Given the description of an element on the screen output the (x, y) to click on. 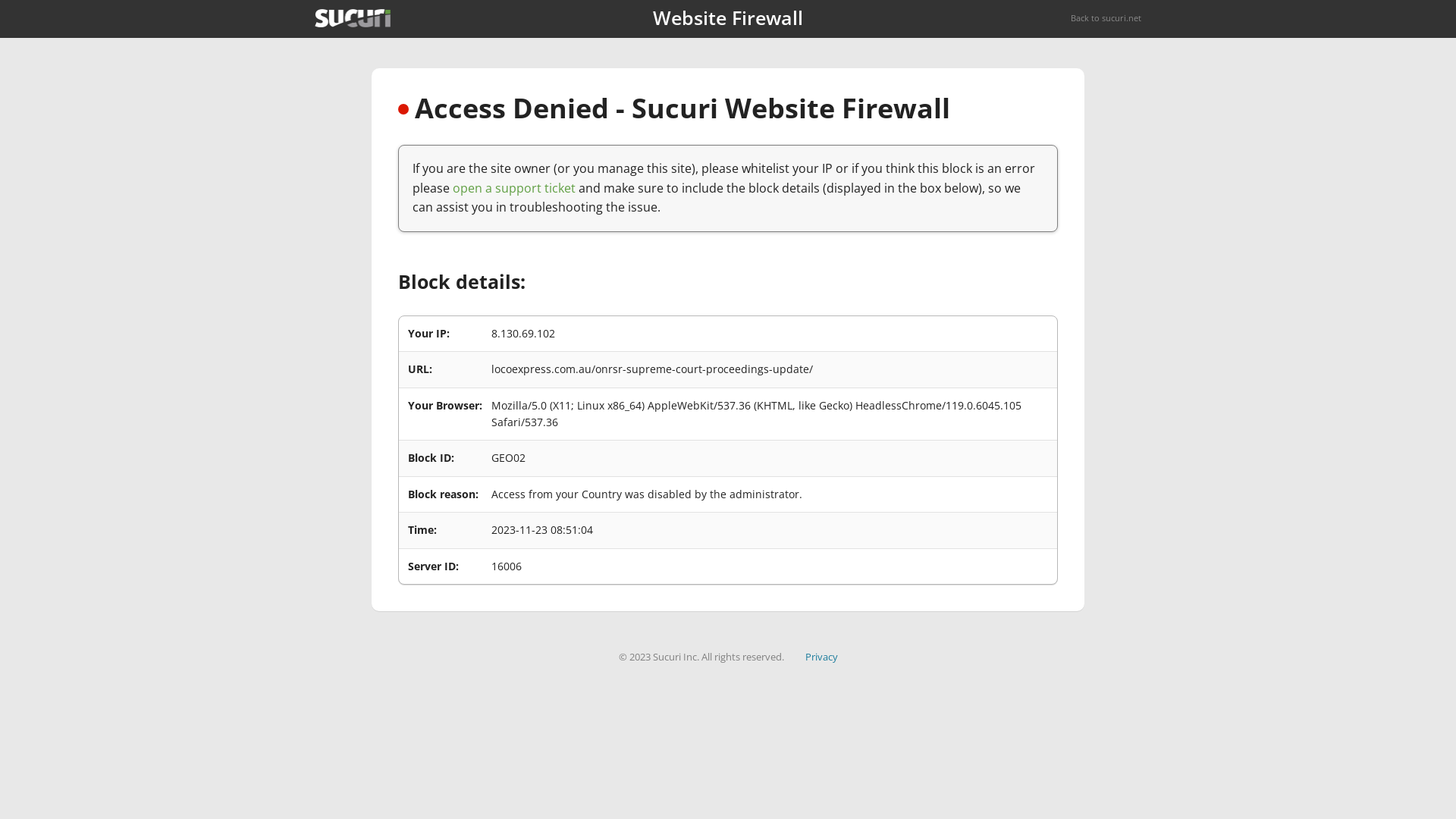
Privacy Element type: text (821, 656)
Back to sucuri.net Element type: text (1105, 18)
open a support ticket Element type: text (513, 187)
